Given the description of an element on the screen output the (x, y) to click on. 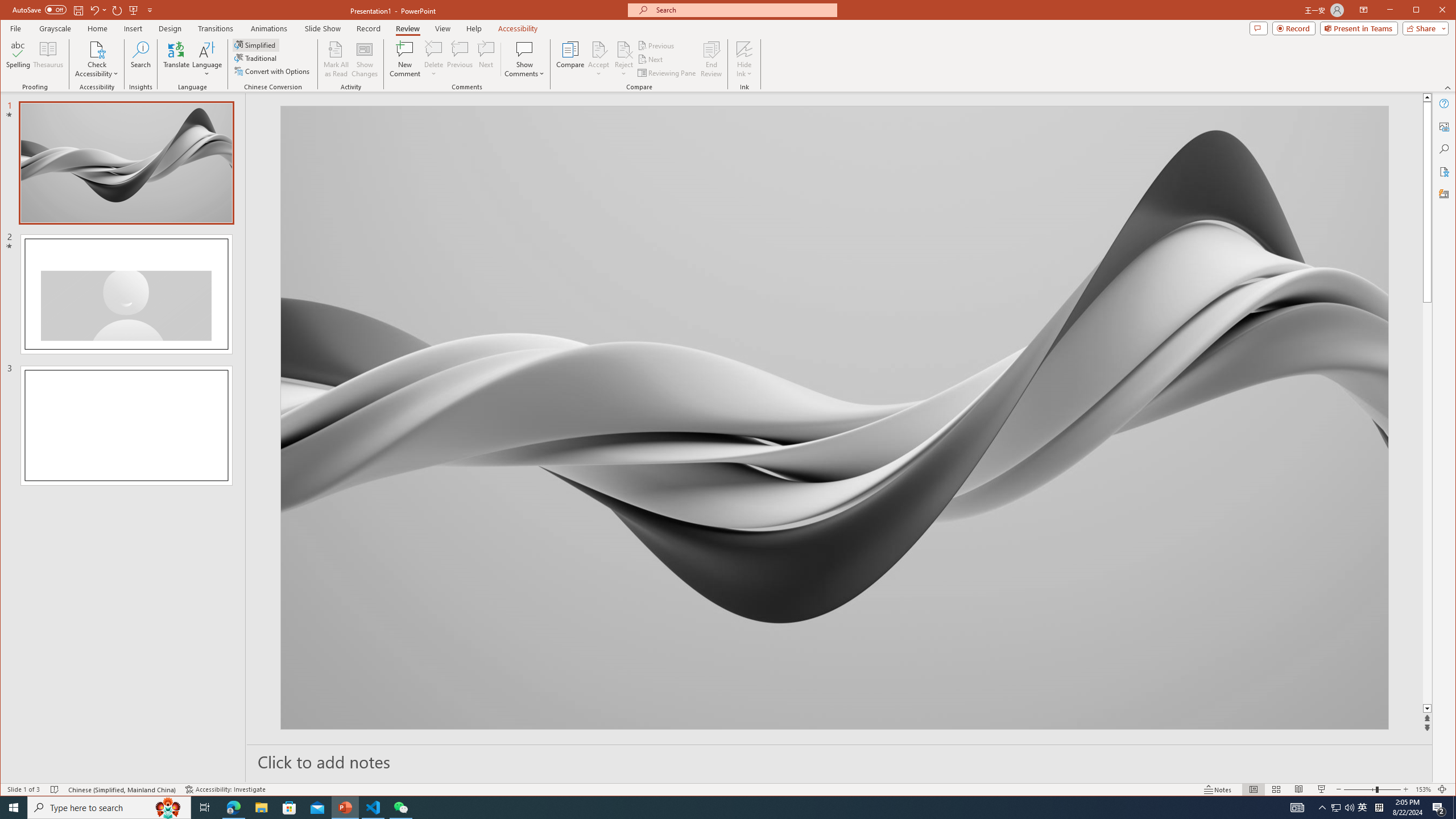
Mark All as Read (335, 59)
Previous (657, 45)
Accept Change (598, 48)
